Given the description of an element on the screen output the (x, y) to click on. 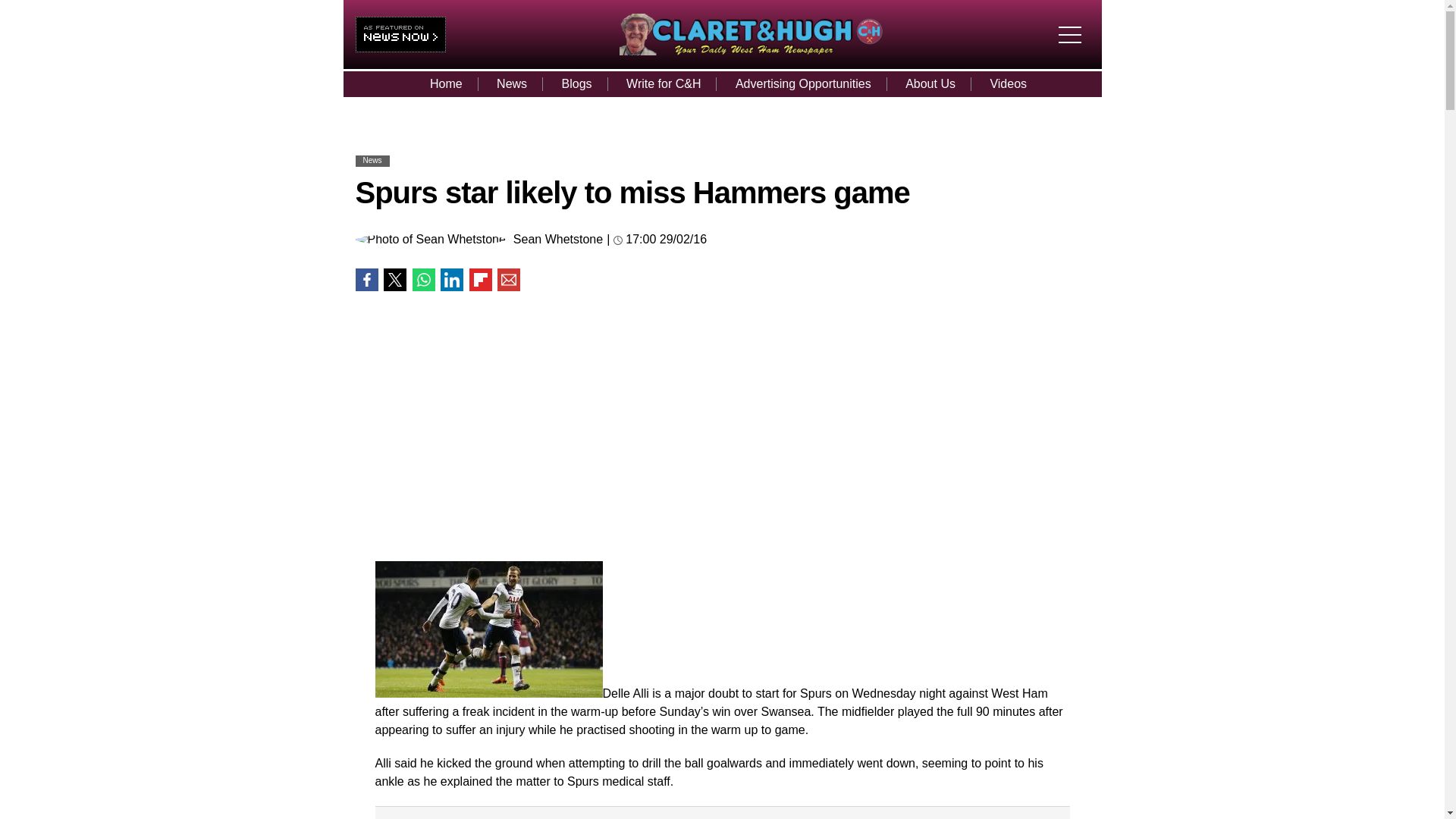
share on Facebook (366, 279)
share on Flipboard (480, 279)
share on LinkedIn (452, 279)
share on Email (508, 279)
Menu (1074, 21)
Videos (1008, 83)
share on Twitter (395, 279)
News (511, 83)
Advertising Opportunities (803, 83)
Home (445, 83)
